Given the description of an element on the screen output the (x, y) to click on. 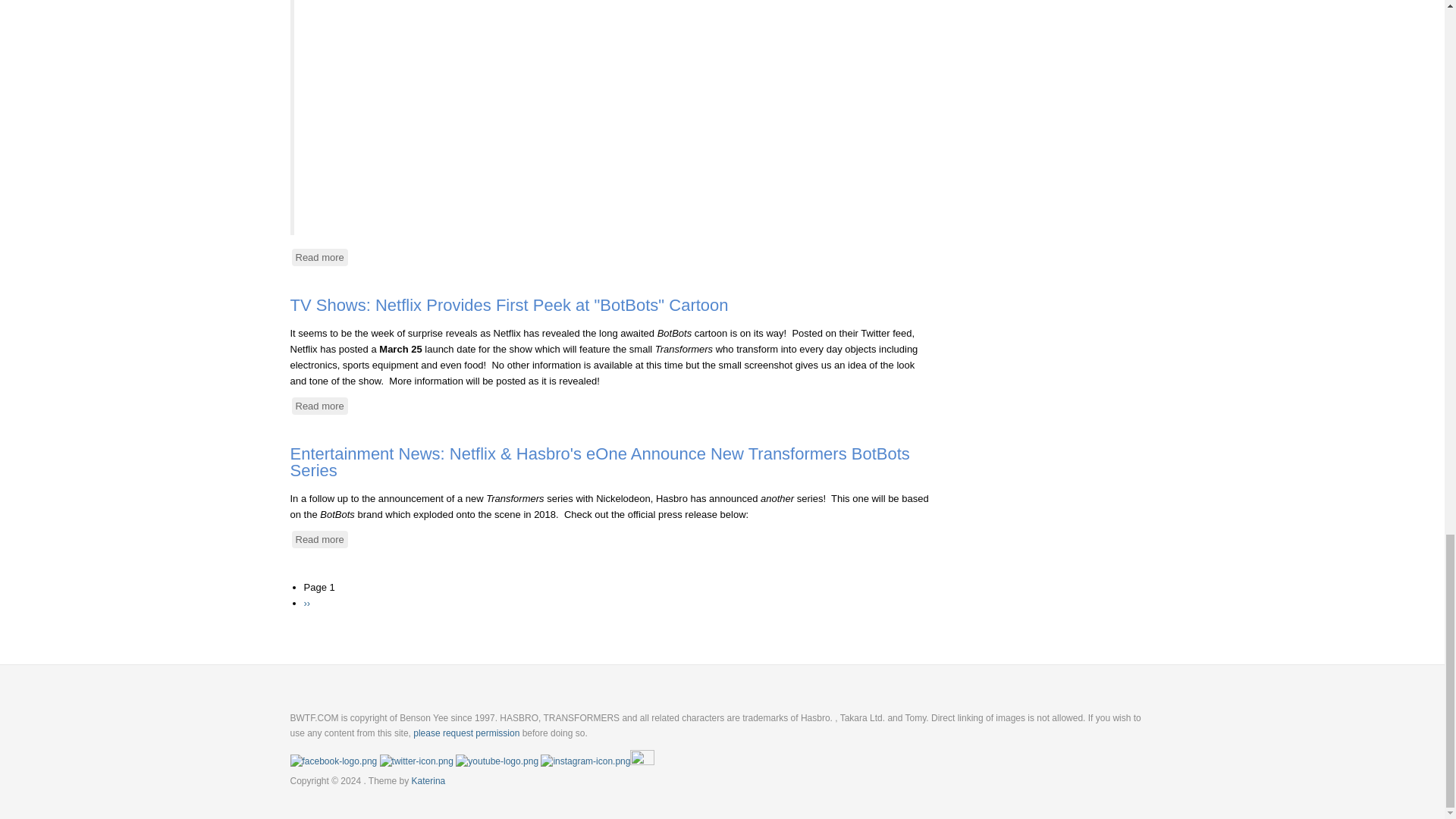
TV Shows: Netflix Provides First Peek at "BotBots" Cartoon (508, 304)
TV Shows: Netflix Provides First Peek at "BotBots" Cartoon (319, 405)
